Given the description of an element on the screen output the (x, y) to click on. 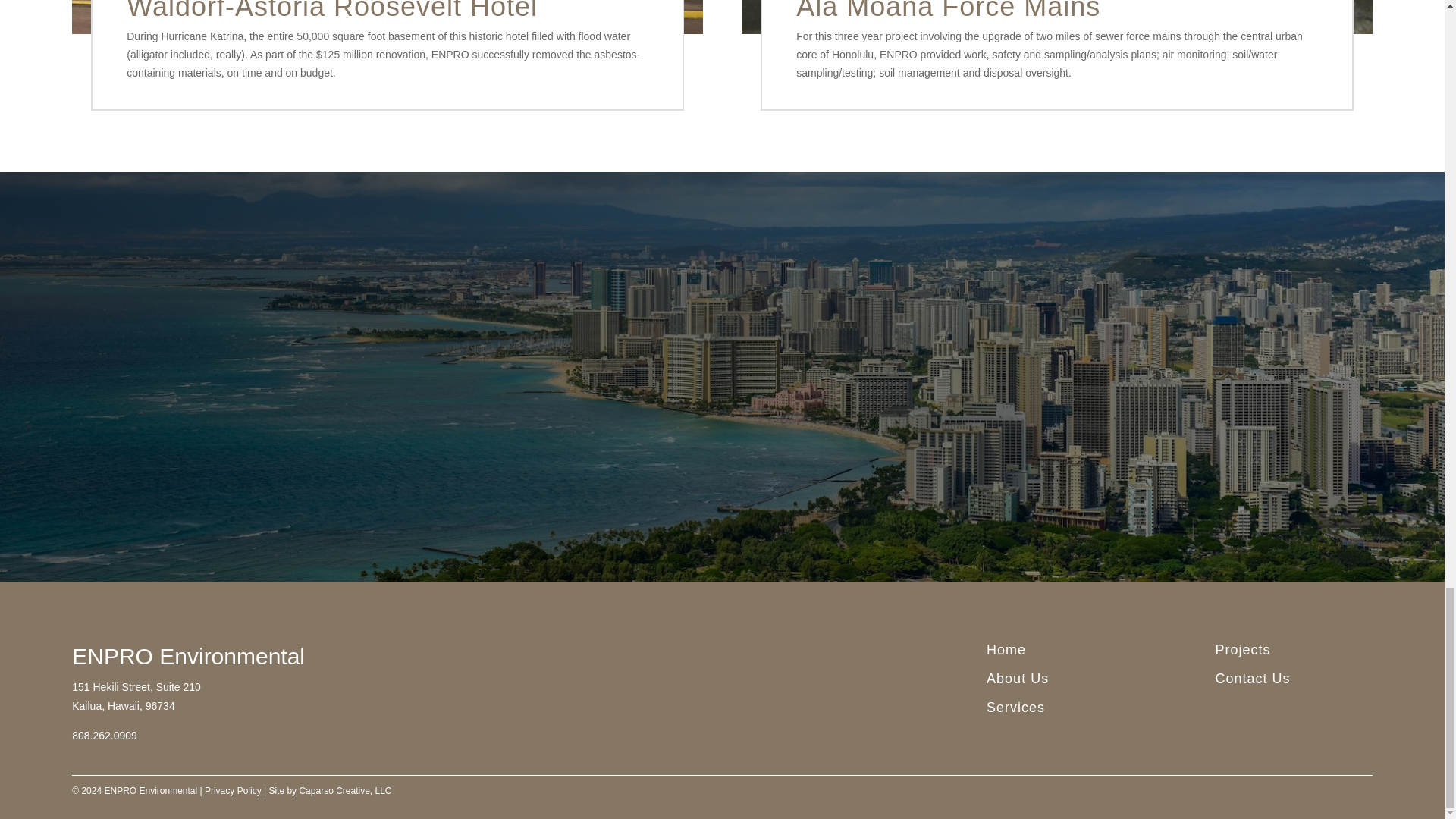
Contact Us (1252, 678)
Home (1006, 649)
About Us (1017, 678)
Alamoana Force (1057, 17)
Services (1016, 707)
Projects (1243, 649)
Waldorf Astoria Roosevelt (387, 17)
